Given the description of an element on the screen output the (x, y) to click on. 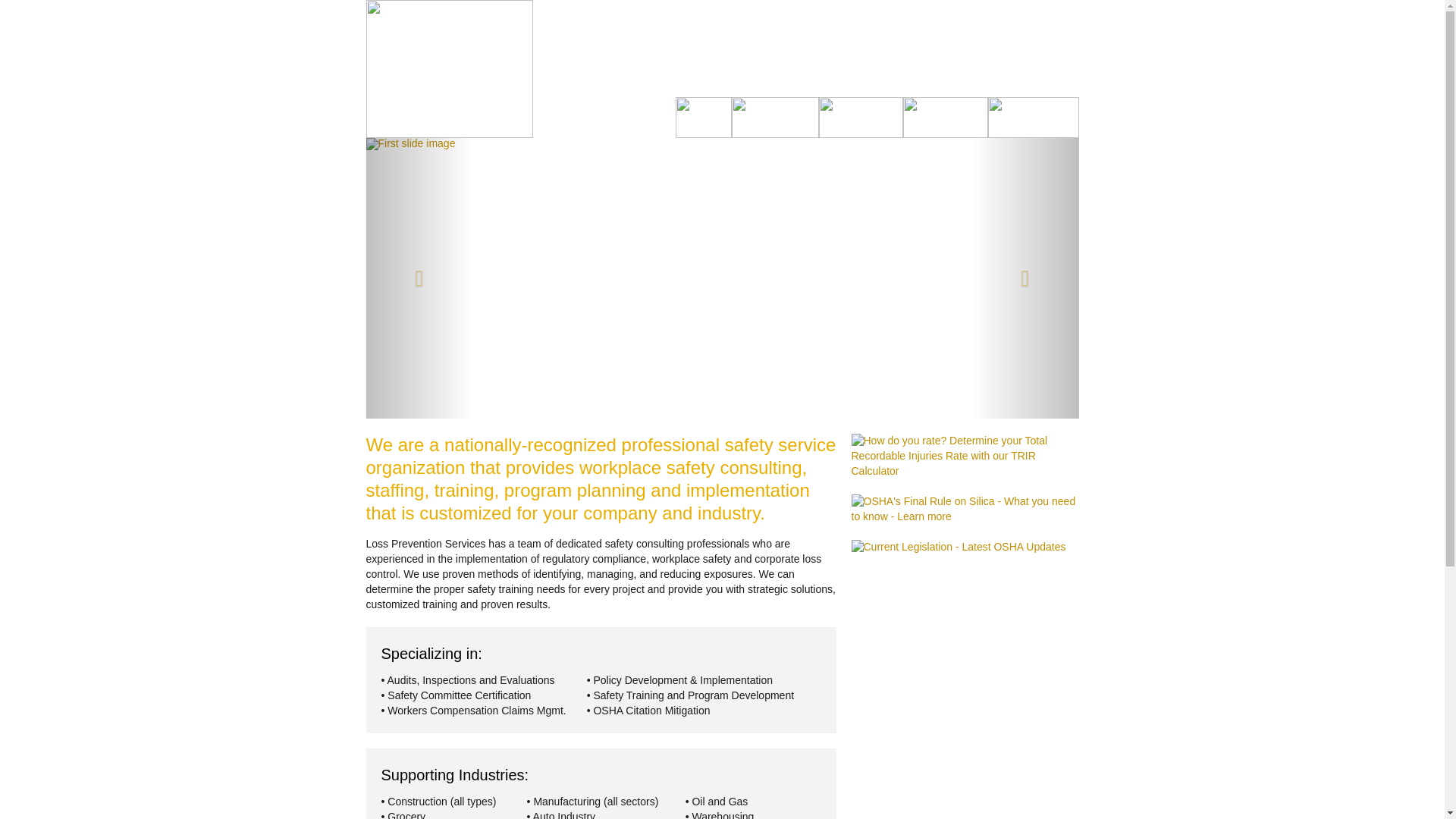
OSHA Silica Rule (964, 509)
TRIR Calculator (964, 456)
OSHA Silica Rule (957, 547)
